Given the description of an element on the screen output the (x, y) to click on. 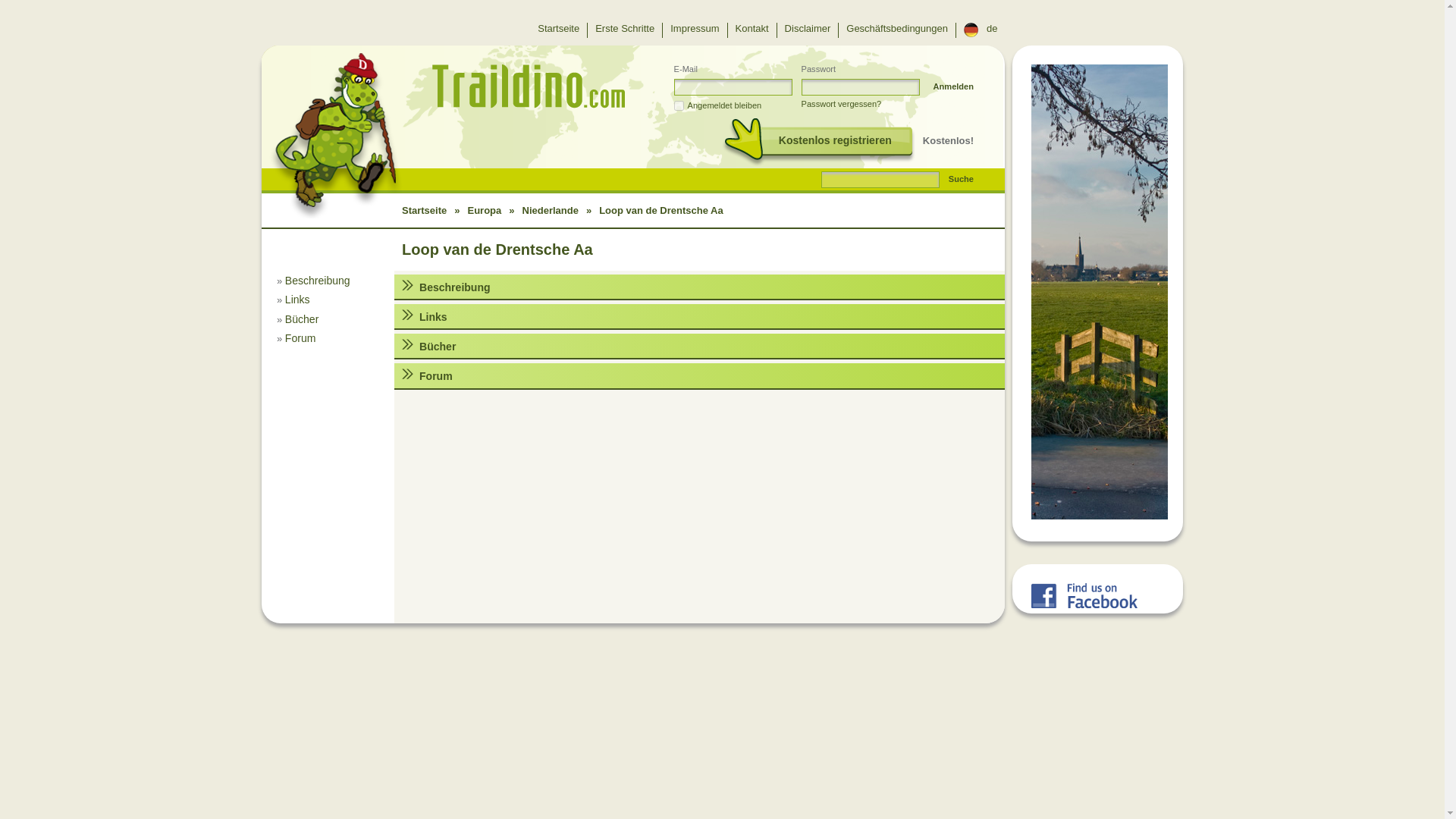
Kostenlos registrieren (818, 142)
Startseite (558, 29)
Forum (300, 337)
Loop van de Drentsche Aa (496, 248)
Beschreibung (317, 280)
Passwort vergessen? (842, 104)
Links (297, 299)
Europa (483, 210)
Kontakt (752, 29)
on (679, 105)
